Given the description of an element on the screen output the (x, y) to click on. 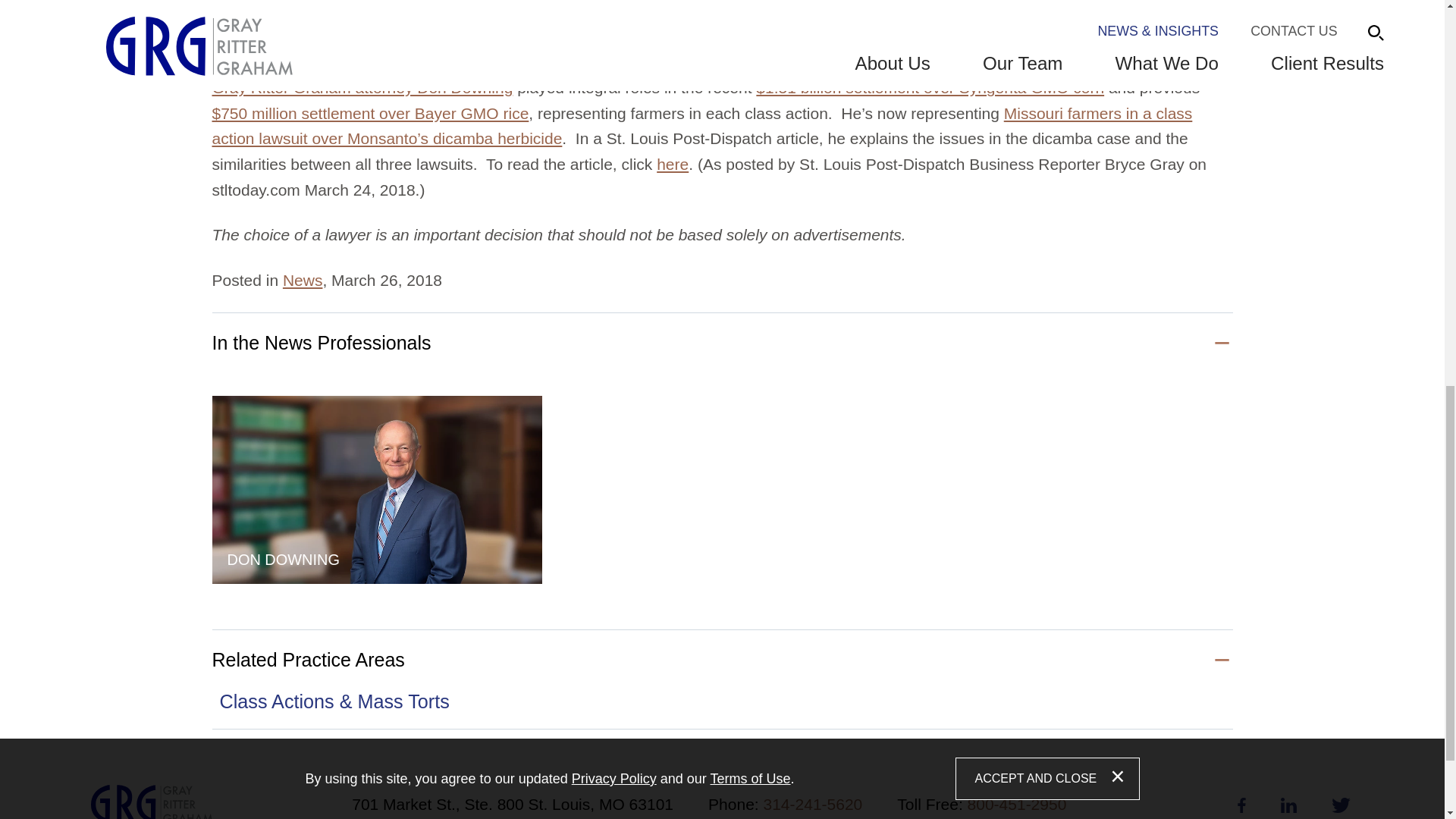
Twitter (1340, 805)
Twitter (1341, 805)
Linkedin (1289, 805)
Gray Ritter Graham Footer Logo (151, 801)
